Given the description of an element on the screen output the (x, y) to click on. 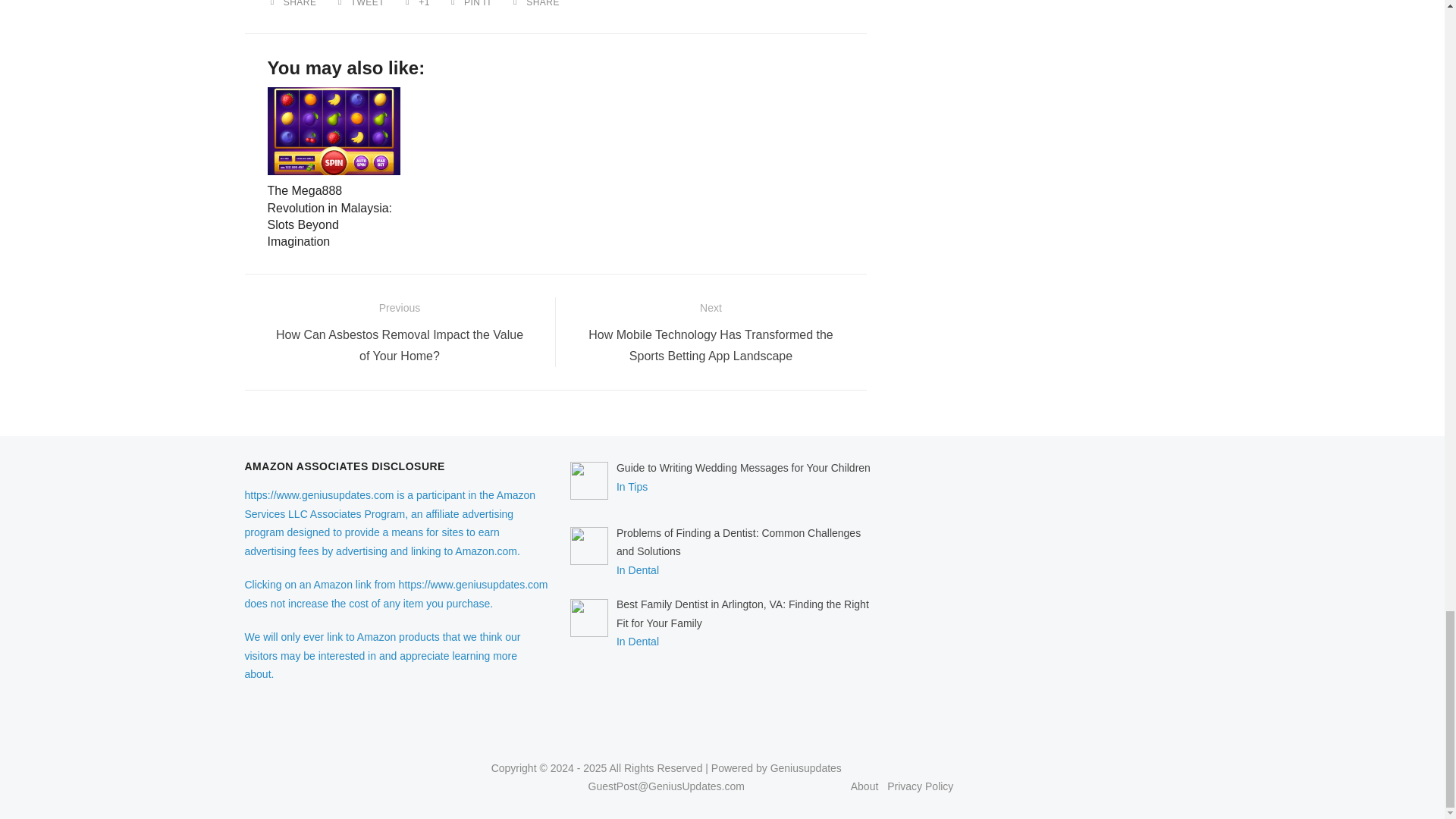
Share on Pinterest (472, 3)
Share on Twitter (362, 3)
Share on Facebook (293, 3)
Share on LinkedIn (538, 3)
